Given the description of an element on the screen output the (x, y) to click on. 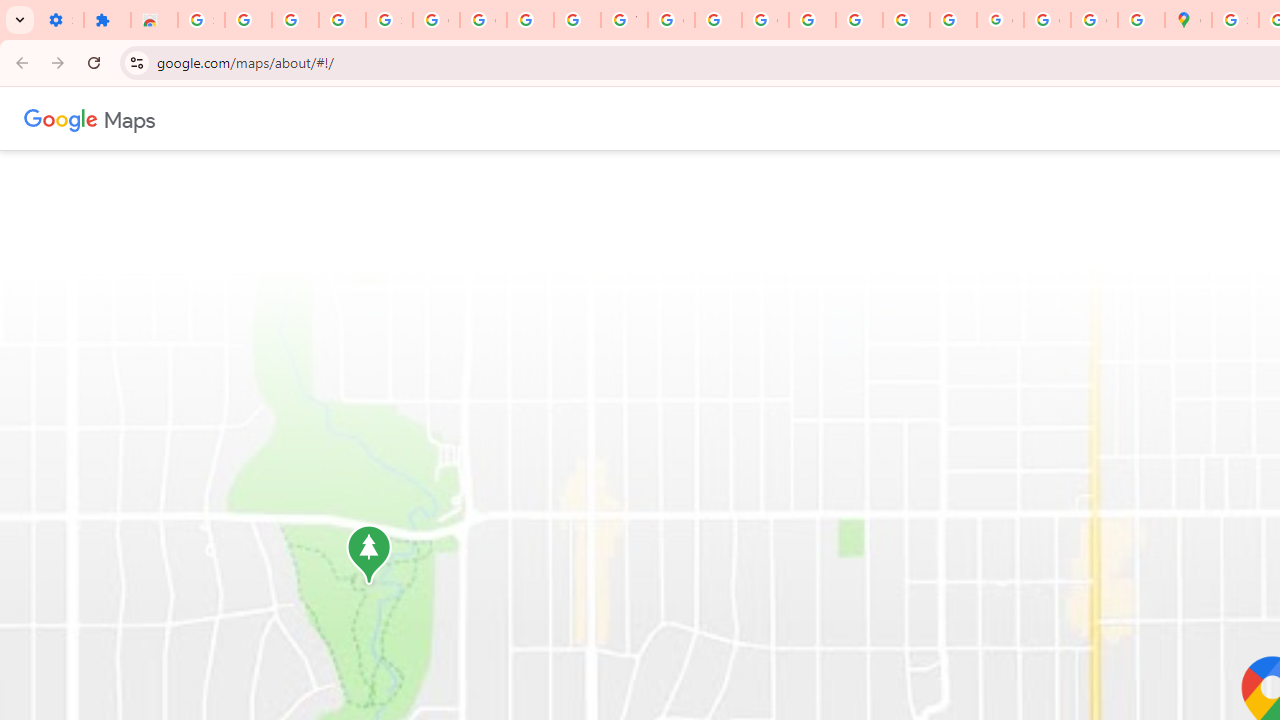
Google Maps (1188, 20)
Delete photos & videos - Computer - Google Photos Help (248, 20)
Google Account Help (482, 20)
https://scholar.google.com/ (718, 20)
Sign in - Google Accounts (389, 20)
Maps (129, 118)
